Given the description of an element on the screen output the (x, y) to click on. 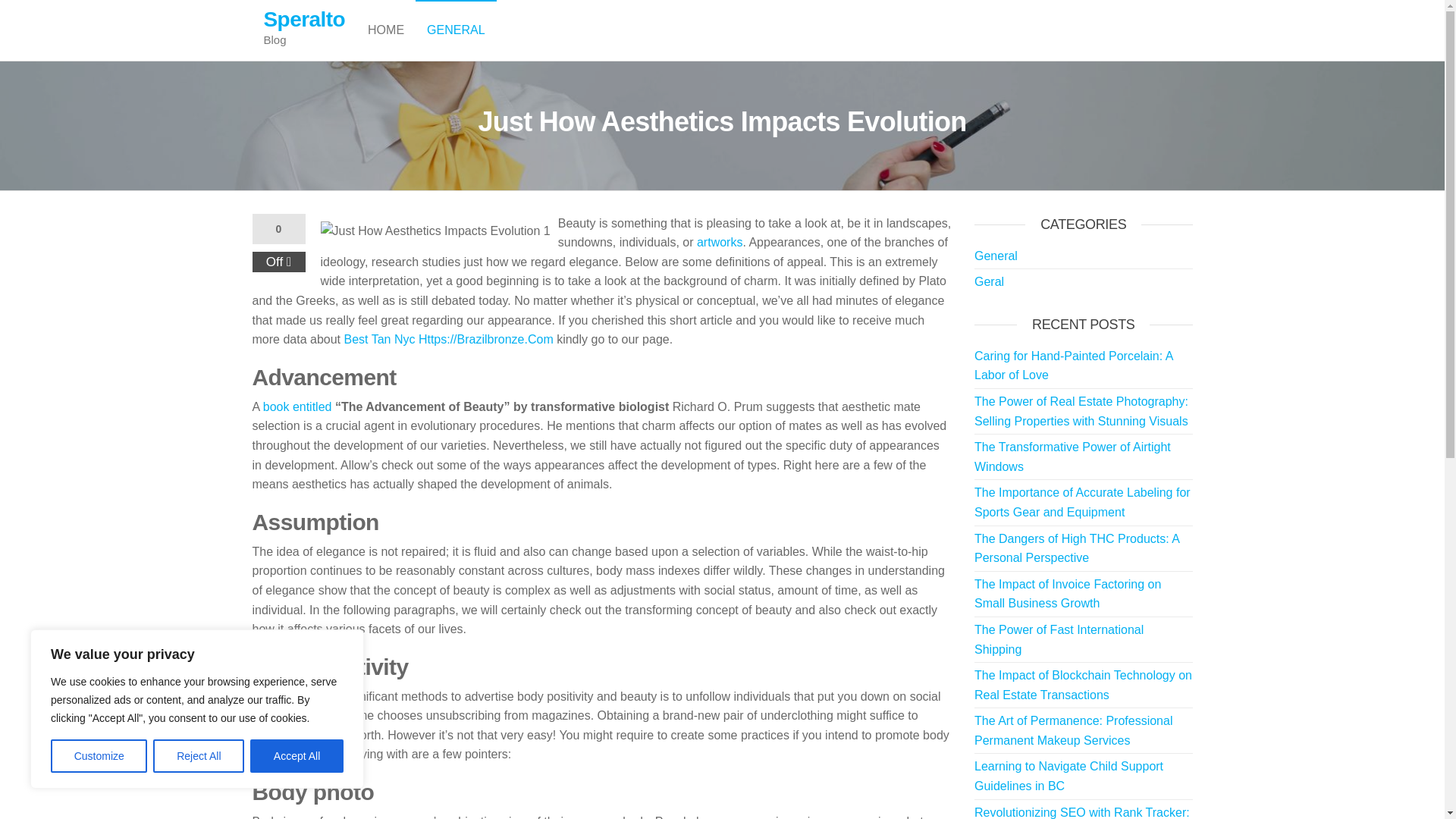
The Dangers of High THC Products: A Personal Perspective (1076, 548)
Accept All (296, 756)
General (995, 255)
General (455, 30)
Home (385, 30)
Reject All (198, 756)
Speralto (304, 19)
artworks (719, 241)
Customize (98, 756)
The Power of Fast International Shipping (1058, 639)
The Transformative Power of Airtight Windows (1072, 456)
Geral (989, 281)
Caring for Hand-Painted Porcelain: A Labor of Love (1073, 365)
